Given the description of an element on the screen output the (x, y) to click on. 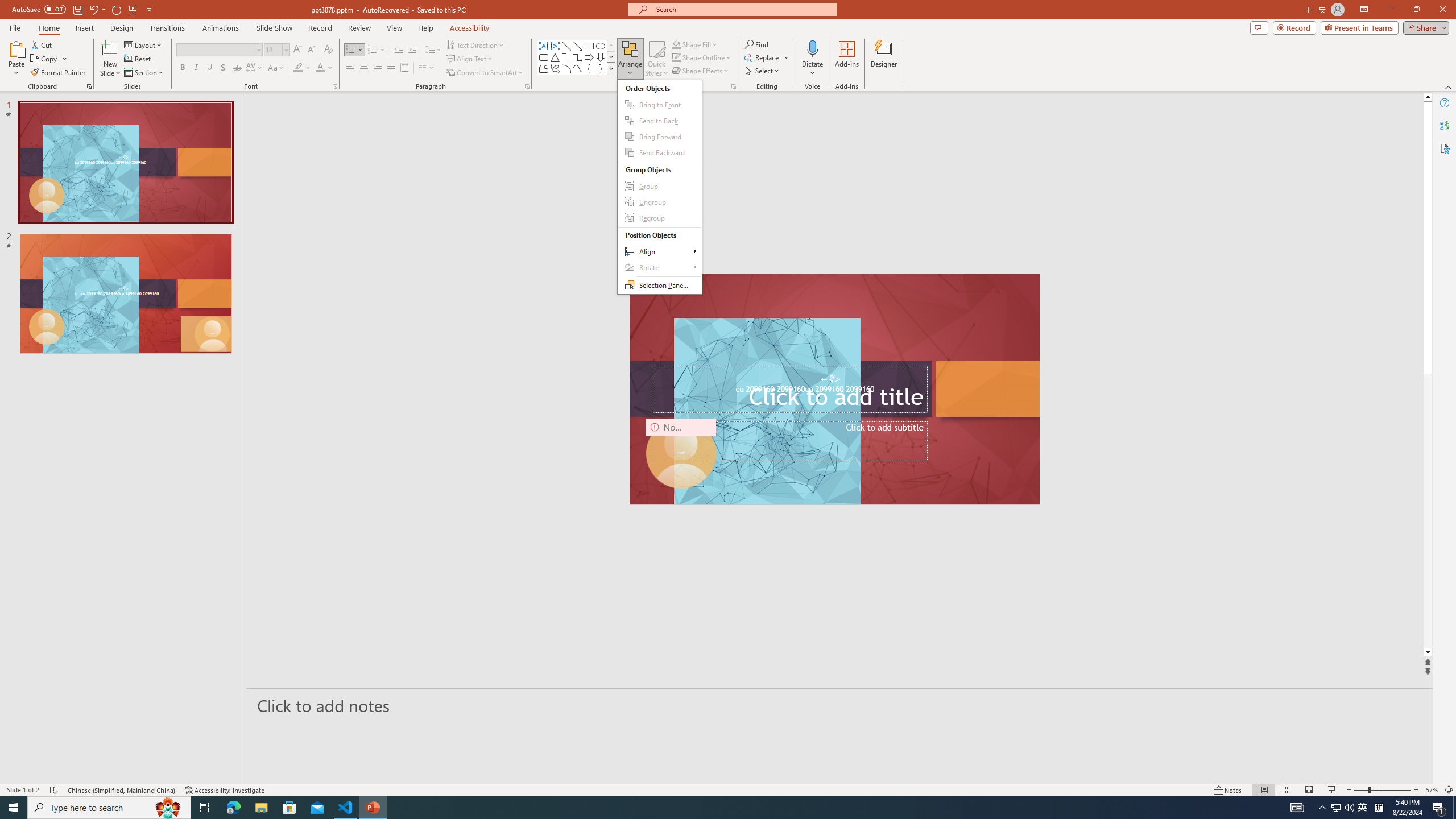
Columns (426, 67)
Search highlights icon opens search home window (167, 807)
Connector: Elbow (566, 57)
Line Spacing (433, 49)
Shapes (611, 68)
Freeform: Scribble (554, 68)
Underline (209, 67)
Show desktop (1335, 807)
Type here to search (1454, 807)
